Given the description of an element on the screen output the (x, y) to click on. 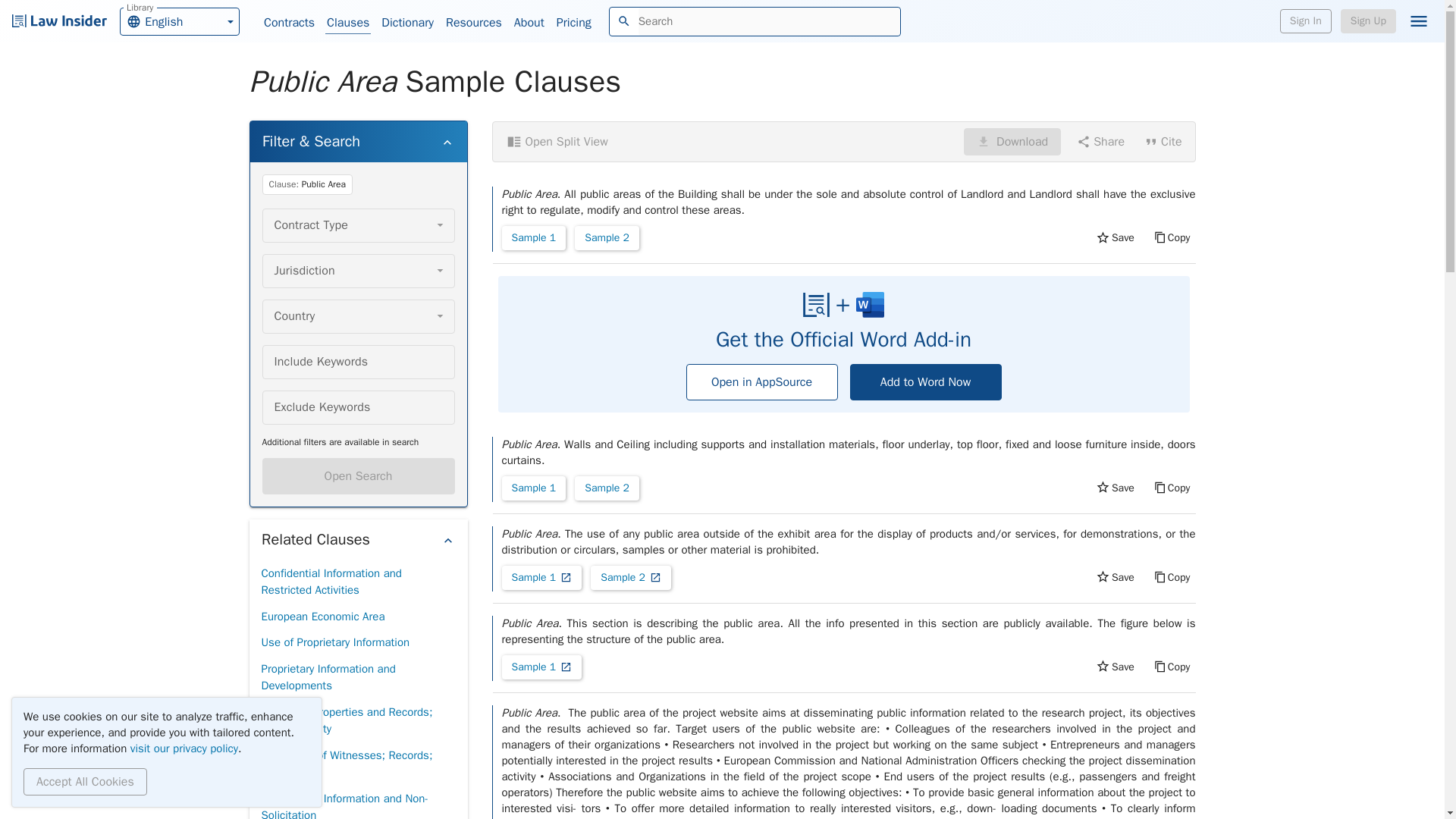
European Economic Area (322, 616)
visit our privacy policy (184, 748)
Use of Proprietary Information (334, 642)
Production of Witnesses; Records; Cooperation (357, 763)
Confidential Information and Restricted Activities (357, 581)
Resources (473, 23)
Access to Properties and Records; Confidentiality (357, 720)
Clauses (347, 23)
Open Search (358, 475)
Proprietary Information and Developments (357, 677)
Sign Up (1368, 21)
Sign In (1305, 21)
Pricing (179, 20)
Accept All Cookies (573, 23)
